Given the description of an element on the screen output the (x, y) to click on. 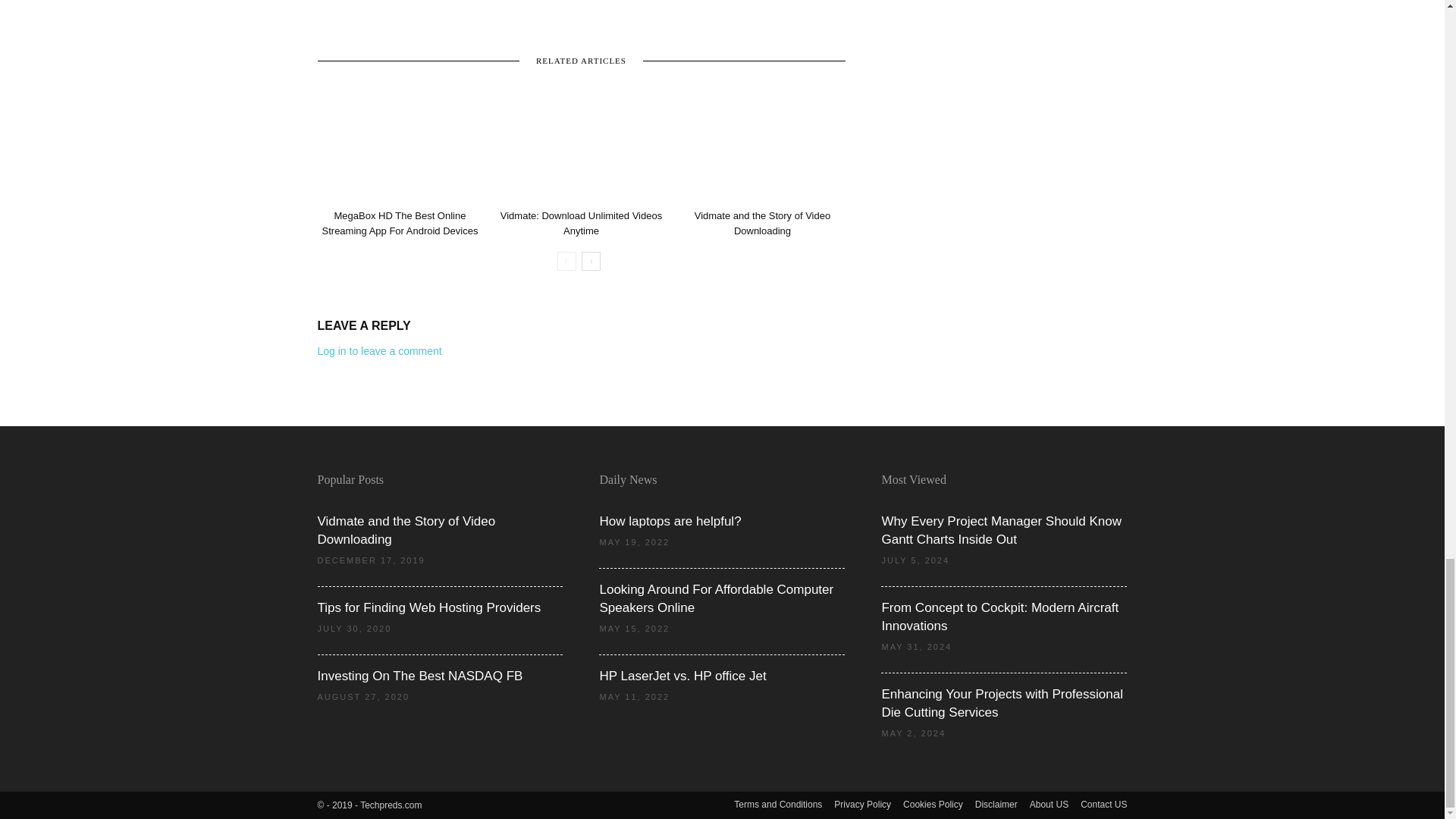
RELATED ARTICLES (581, 58)
MegaBox HD The Best Online Streaming App For Android Devices (399, 146)
